Given the description of an element on the screen output the (x, y) to click on. 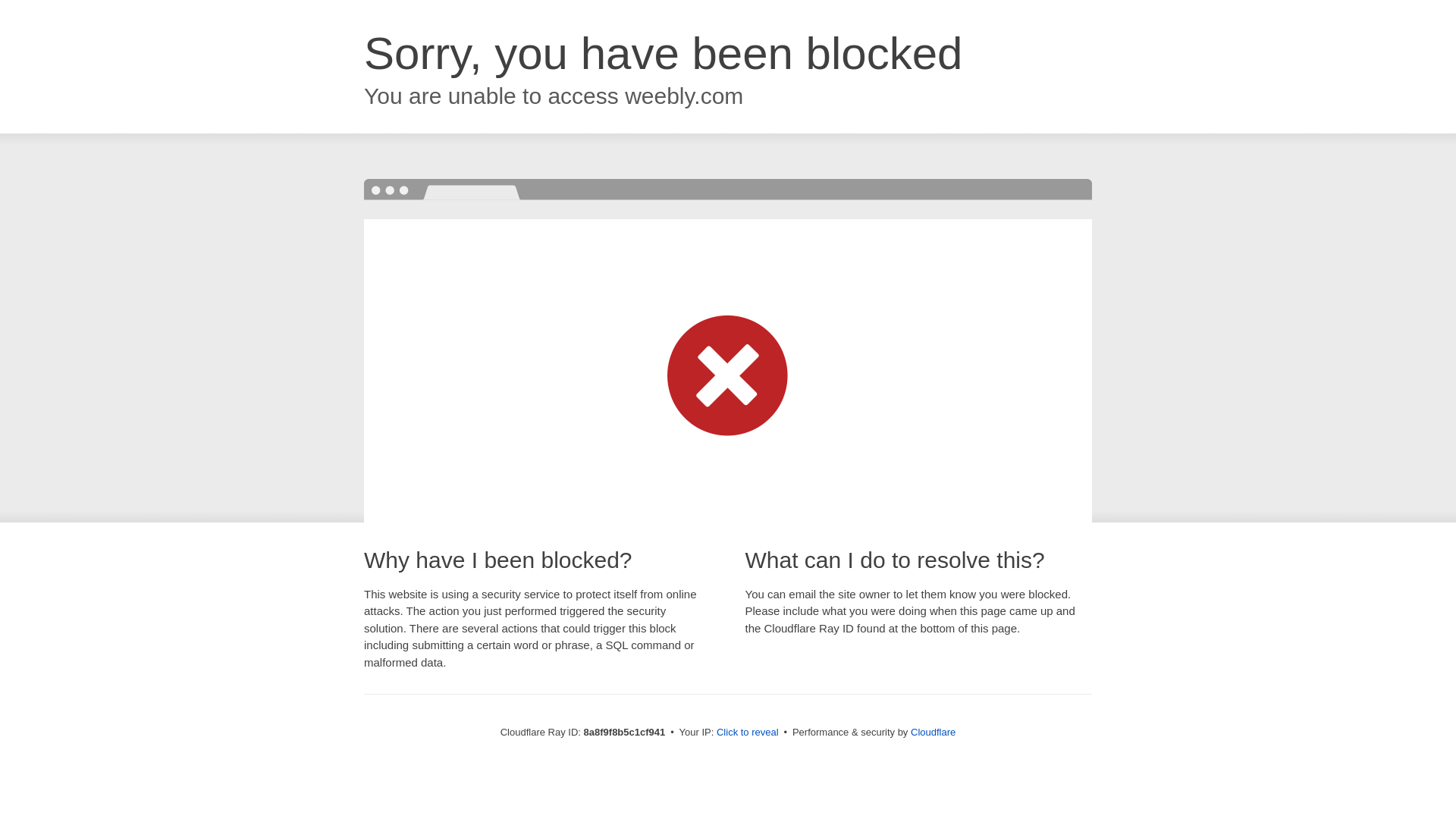
Cloudflare (933, 731)
Click to reveal (747, 732)
